Given the description of an element on the screen output the (x, y) to click on. 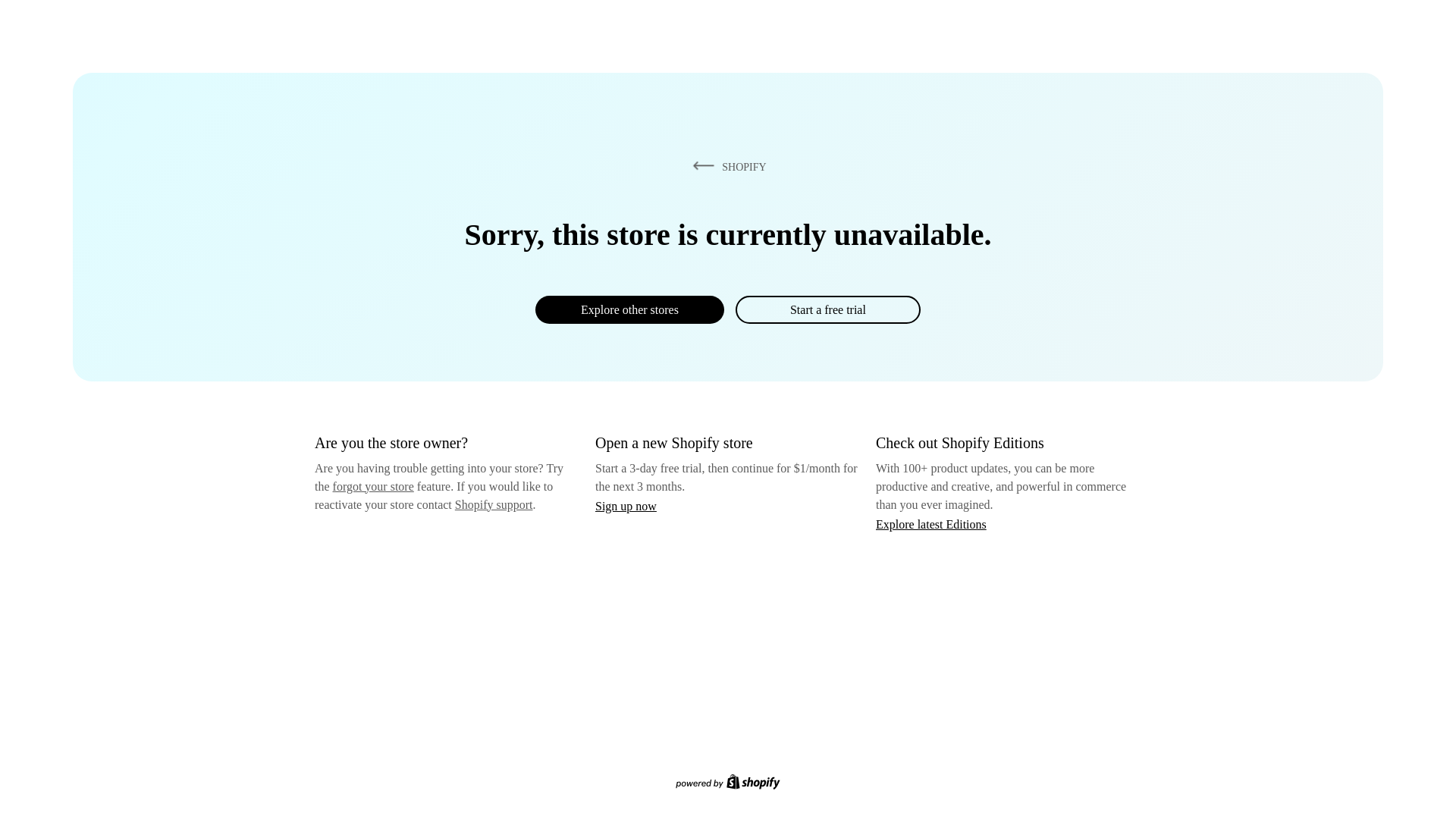
Shopify support (493, 504)
Explore other stores (629, 309)
Explore latest Editions (931, 523)
Start a free trial (827, 309)
forgot your store (373, 486)
Sign up now (625, 505)
SHOPIFY (726, 166)
